Given the description of an element on the screen output the (x, y) to click on. 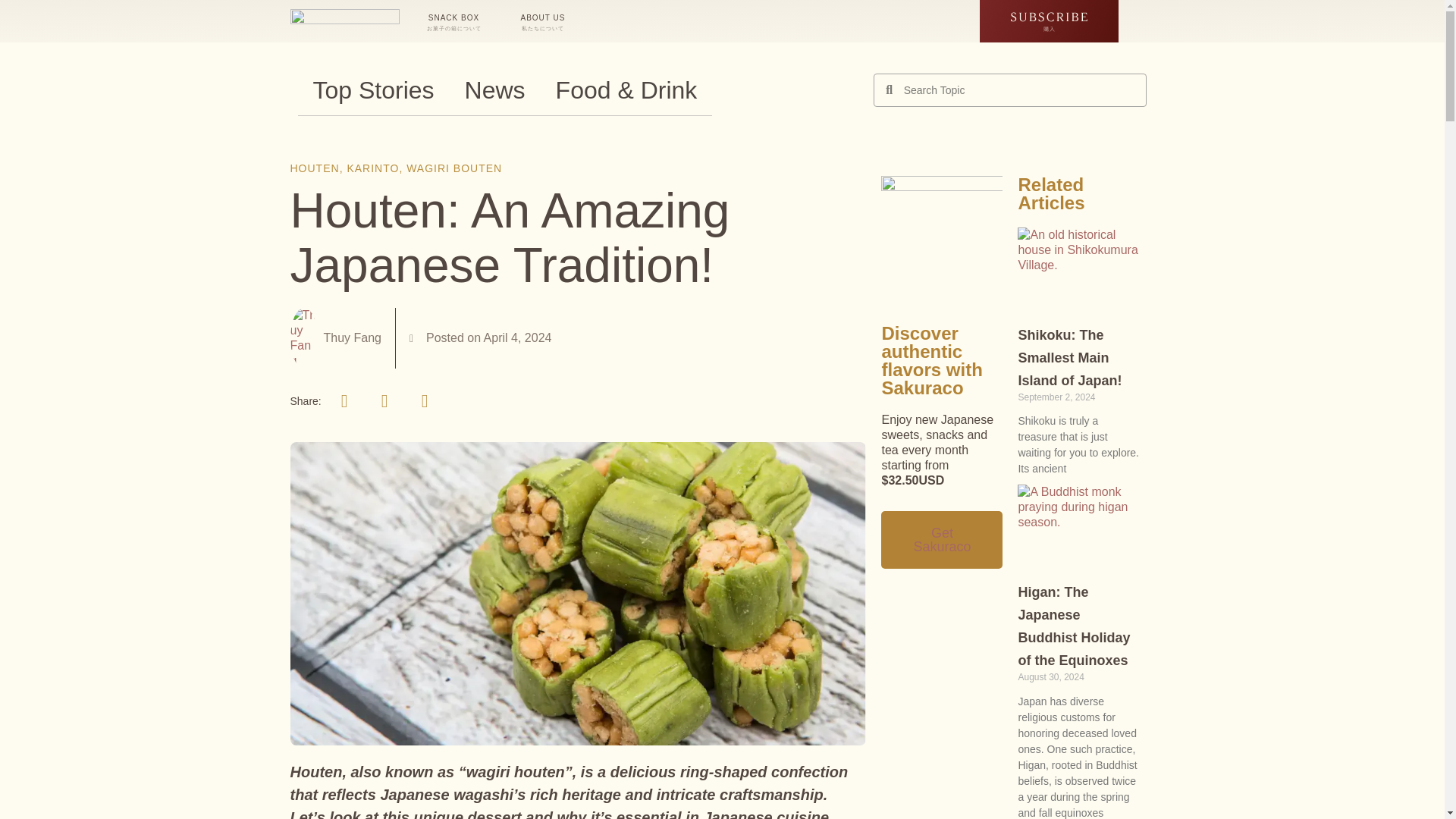
News (494, 90)
SNACK BOX (454, 20)
ABOUT US (544, 20)
Top Stories (372, 90)
Search (1018, 90)
